Given the description of an element on the screen output the (x, y) to click on. 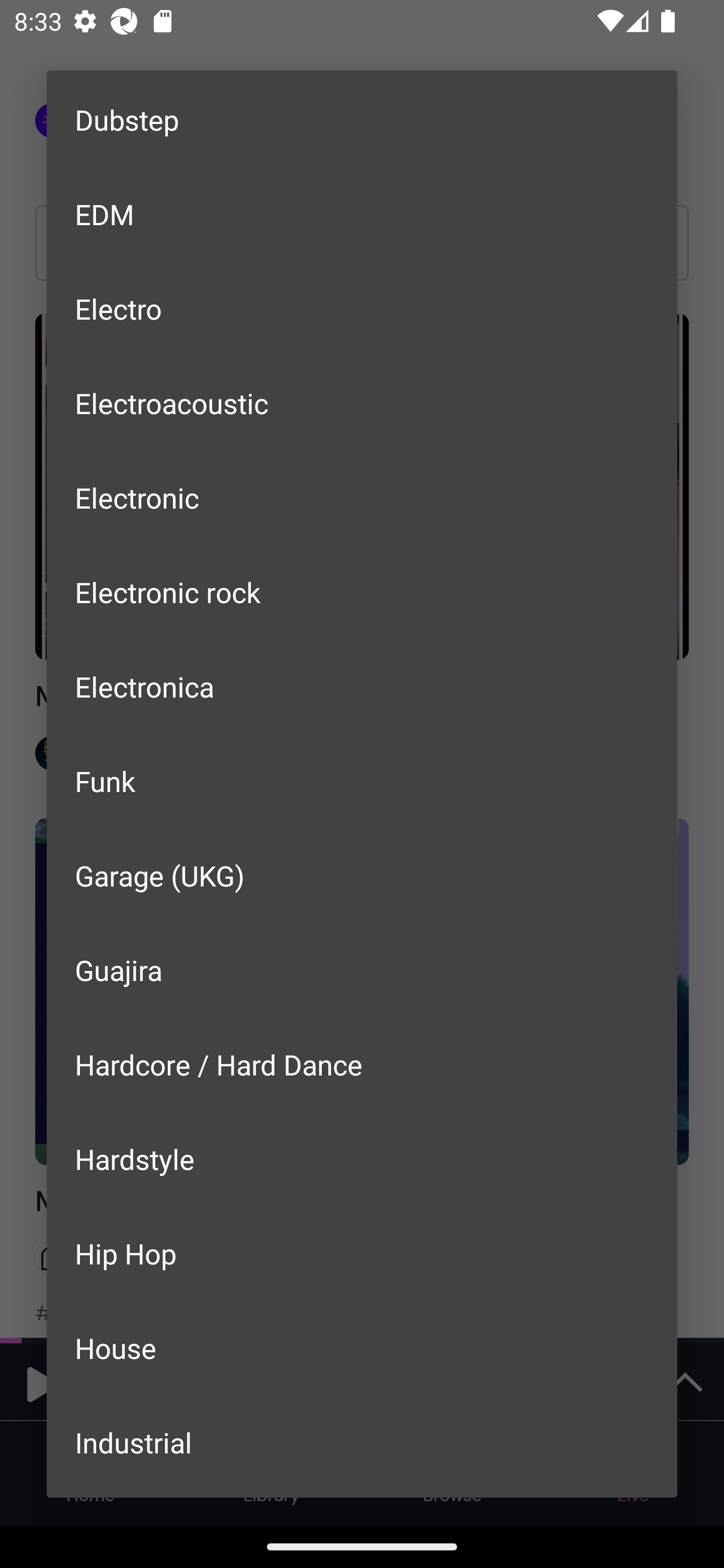
Dubstep (361, 119)
EDM (361, 213)
Electro (361, 308)
Electroacoustic (361, 402)
Electronic (361, 497)
Electronic rock (361, 591)
Electronica (361, 686)
Funk (361, 780)
Garage (UKG) (361, 874)
Guajira (361, 969)
Hardcore / Hard Dance (361, 1064)
Hardstyle (361, 1158)
Hip Hop (361, 1252)
House (361, 1347)
Industrial (361, 1442)
